Given the description of an element on the screen output the (x, y) to click on. 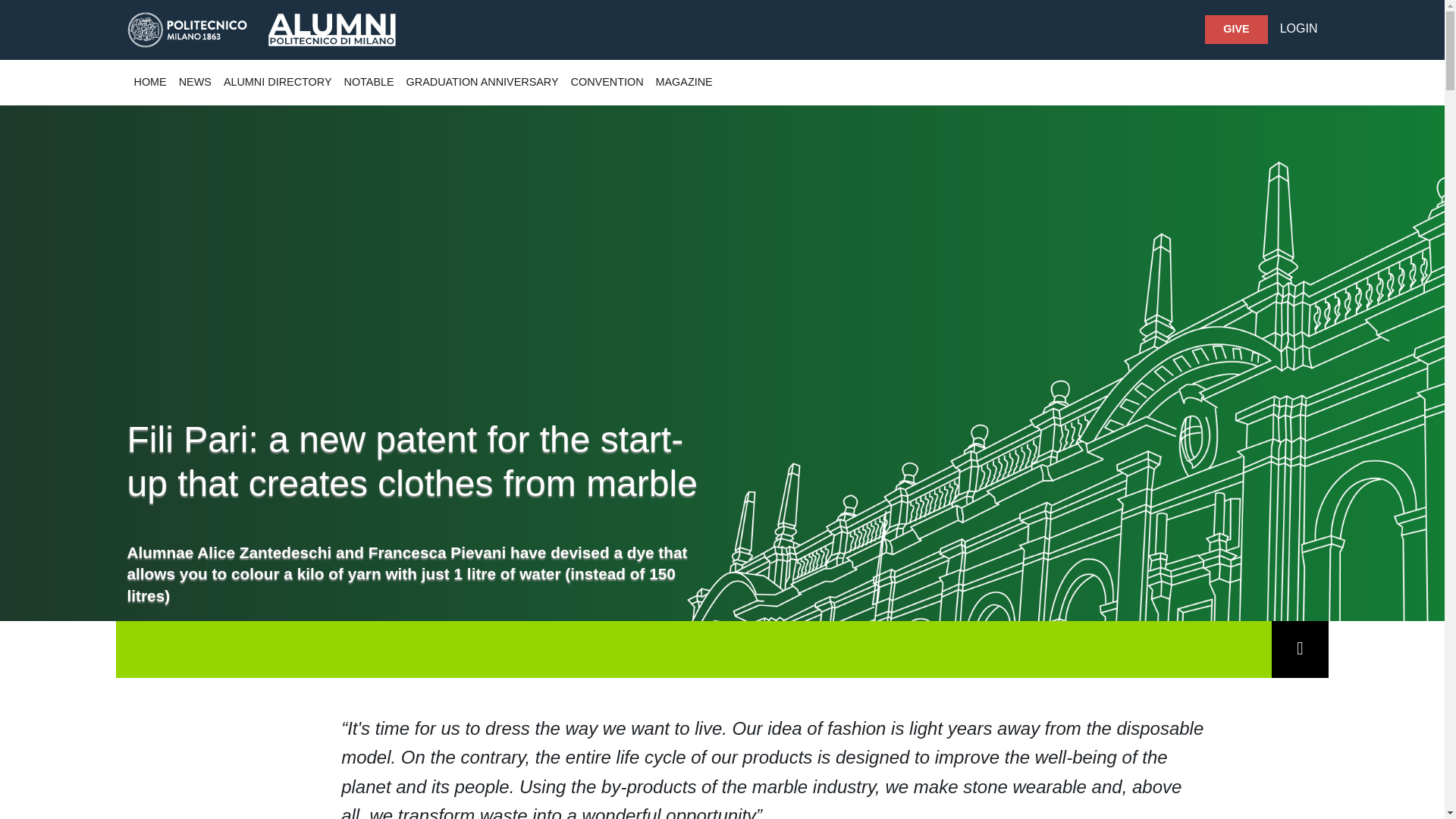
CONVENTION (606, 82)
MAGAZINE (684, 82)
NEWS (194, 82)
LOGIN (1298, 28)
HOME (149, 82)
ALUMNI DIRECTORY (276, 82)
GIVE (1235, 29)
NOTABLE (367, 82)
GRADUATION ANNIVERSARY (482, 82)
